Given the description of an element on the screen output the (x, y) to click on. 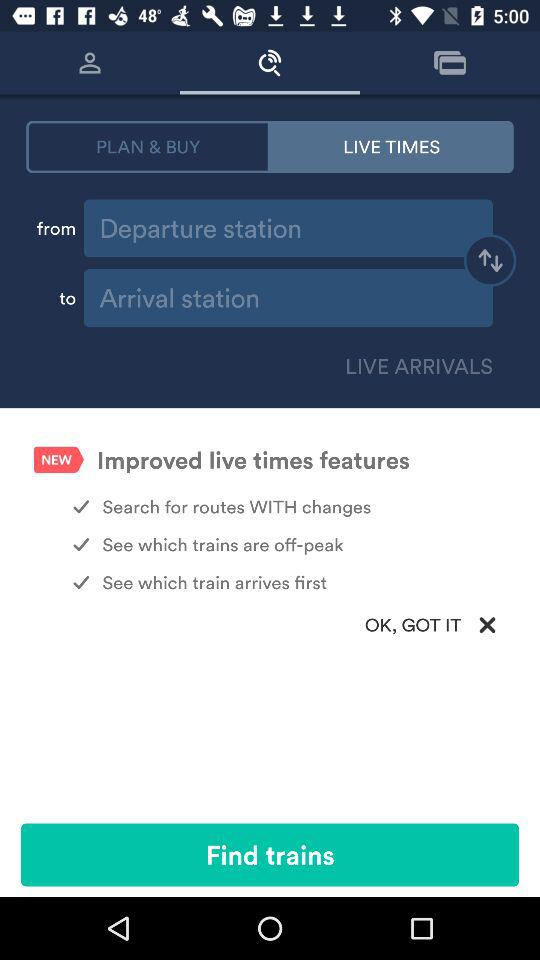
arrival place (288, 298)
